Given the description of an element on the screen output the (x, y) to click on. 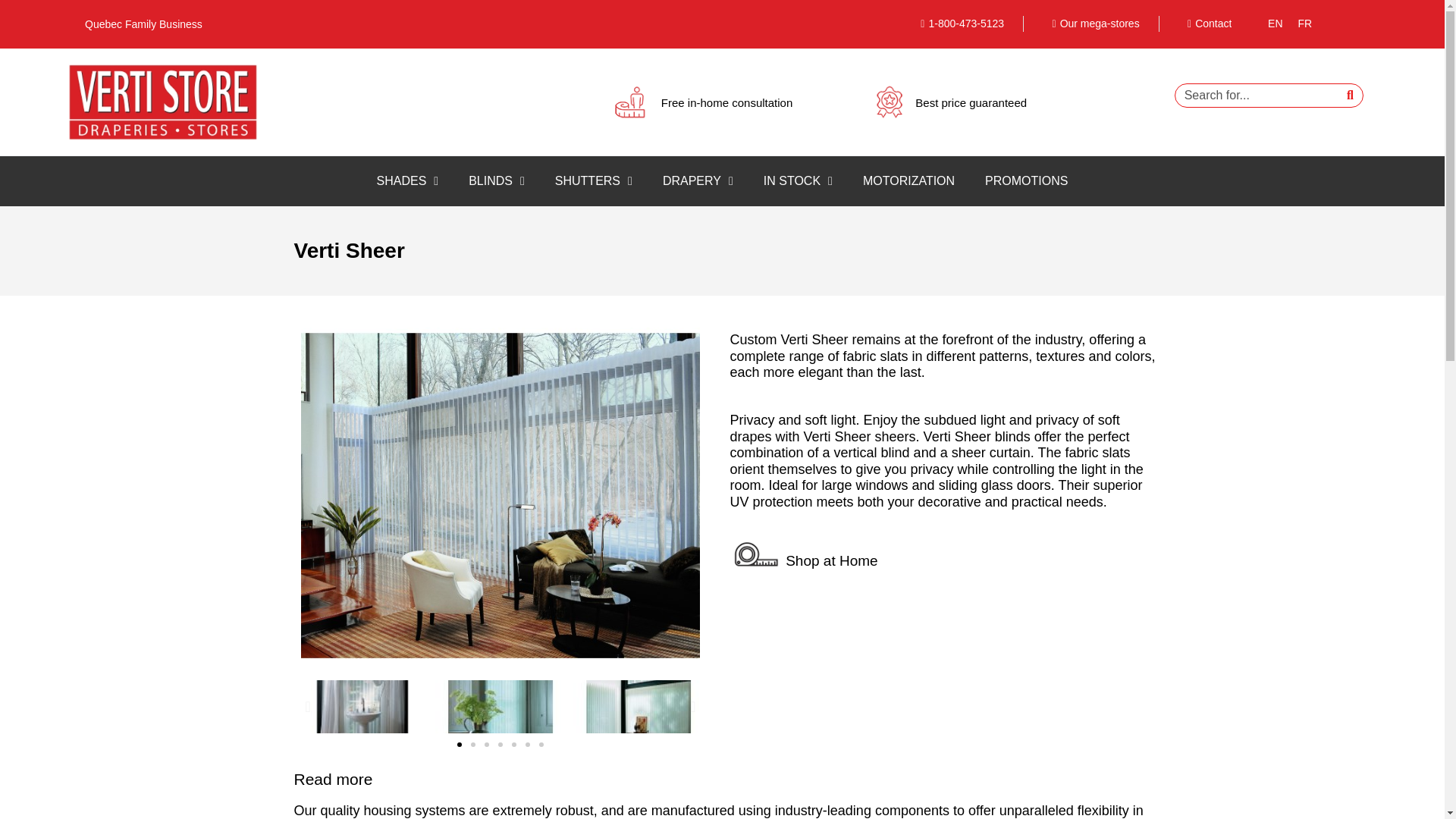
BLINDS (496, 181)
FR (1305, 23)
Free in-home consultation (726, 102)
1-800-473-5123 (957, 23)
EN (1275, 23)
Our mega-stores (1091, 23)
SHADES (407, 181)
Best price guaranteed (970, 102)
Contact (1204, 23)
